Given the description of an element on the screen output the (x, y) to click on. 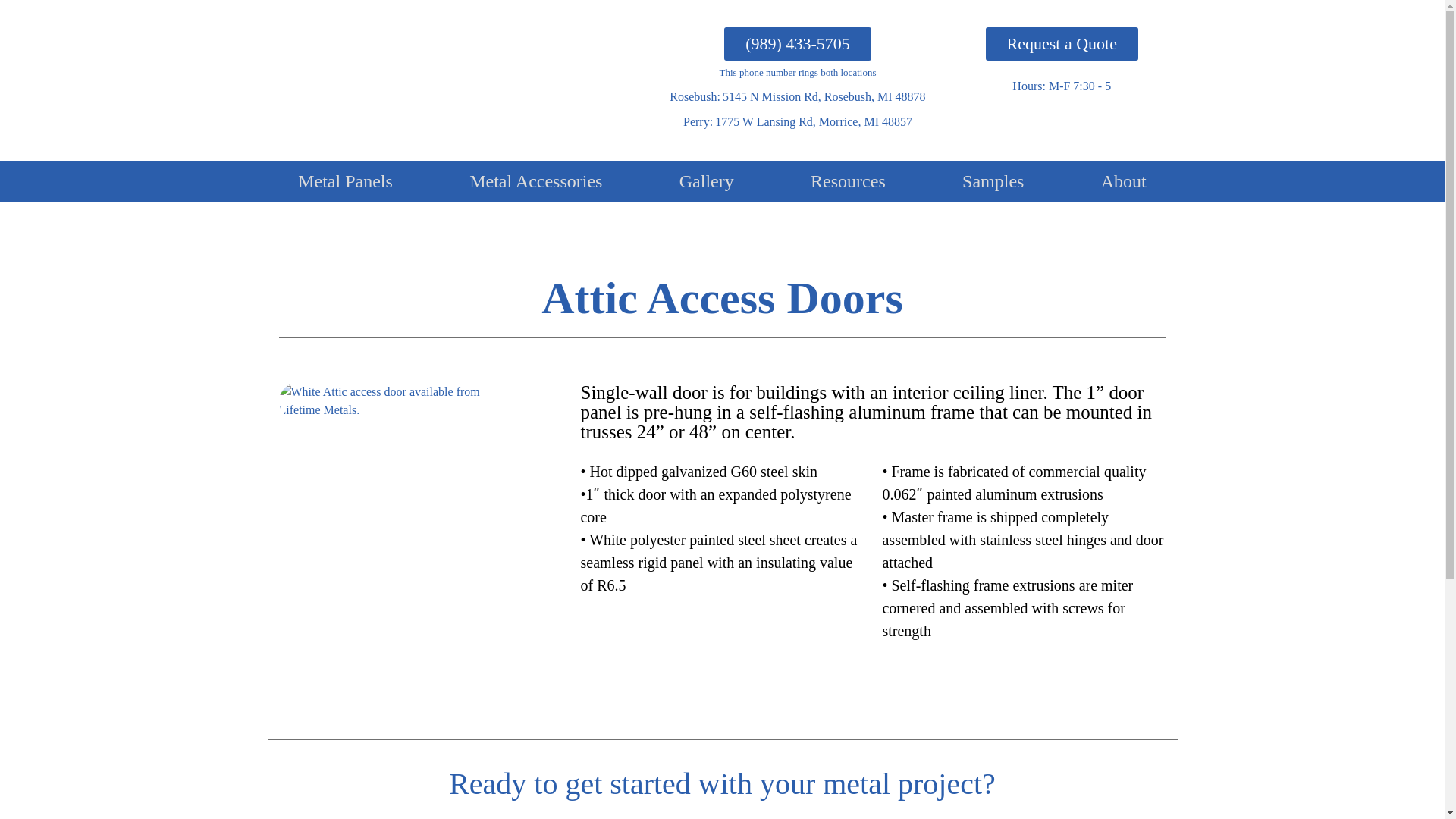
5145 N Mission Rd, Rosebush, MI 48878 (823, 95)
Gallery (706, 180)
Request a Quote (1062, 43)
Metal Accessories (535, 180)
1775 W Lansing Rd, Morrice, MI 48857 (812, 121)
Metal Panels (345, 180)
